Given the description of an element on the screen output the (x, y) to click on. 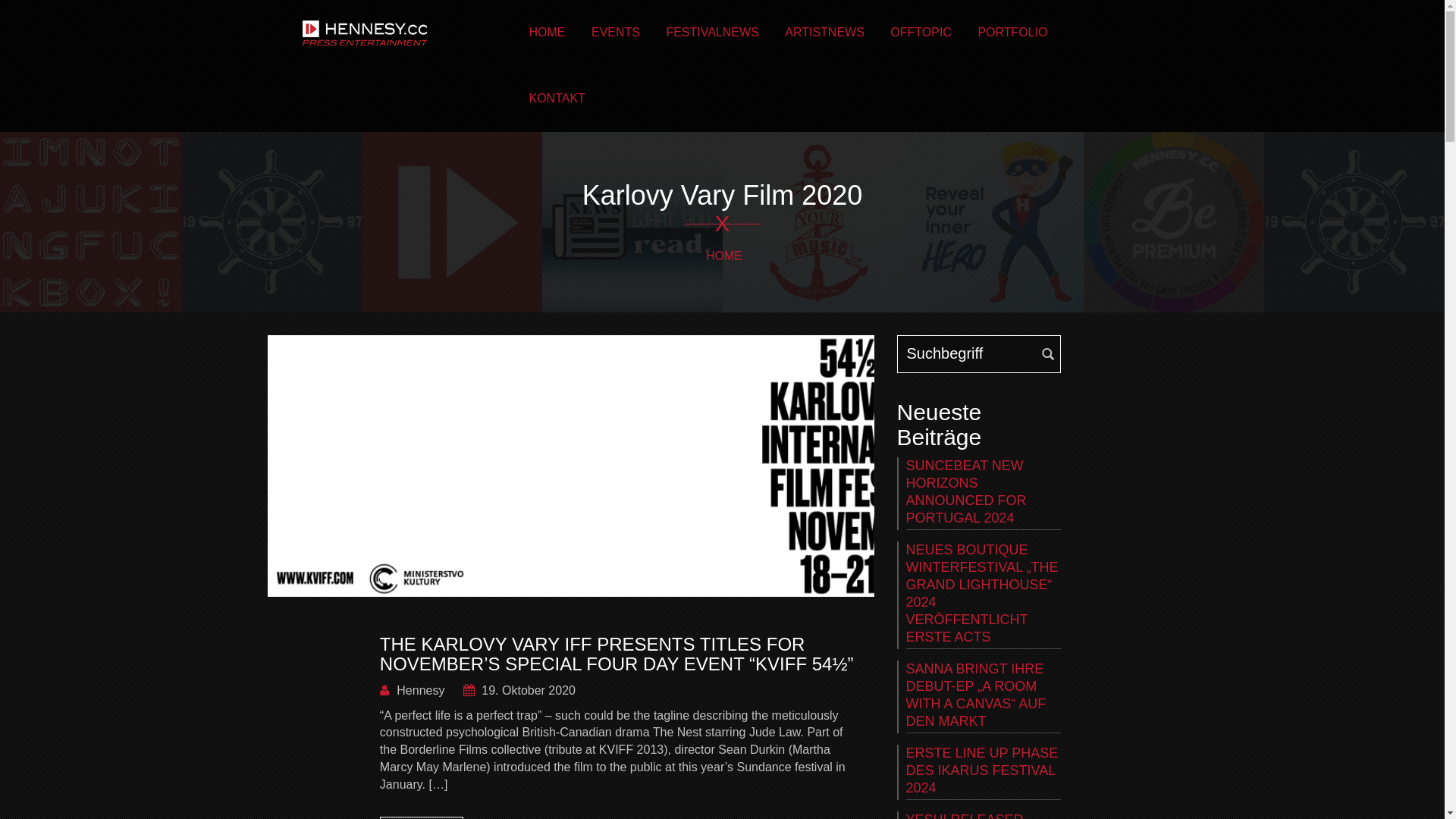
HOME Element type: text (546, 32)
KONTAKT Element type: text (556, 98)
SUNCEBEAT NEW HORIZONS ANNOUNCED FOR PORTUGAL 2024 Element type: text (982, 493)
ERSTE LINE UP PHASE DES IKARUS FESTIVAL 2024 Element type: text (982, 772)
19. Oktober 2020 Element type: text (519, 690)
HOME Element type: text (724, 255)
FESTIVALNEWS Element type: text (711, 32)
EVENTS Element type: text (615, 32)
Hennesy Element type: text (412, 690)
ARTISTNEWS Element type: text (824, 32)
OFFTOPIC Element type: text (920, 32)
PORTFOLIO Element type: text (1012, 32)
